Given the description of an element on the screen output the (x, y) to click on. 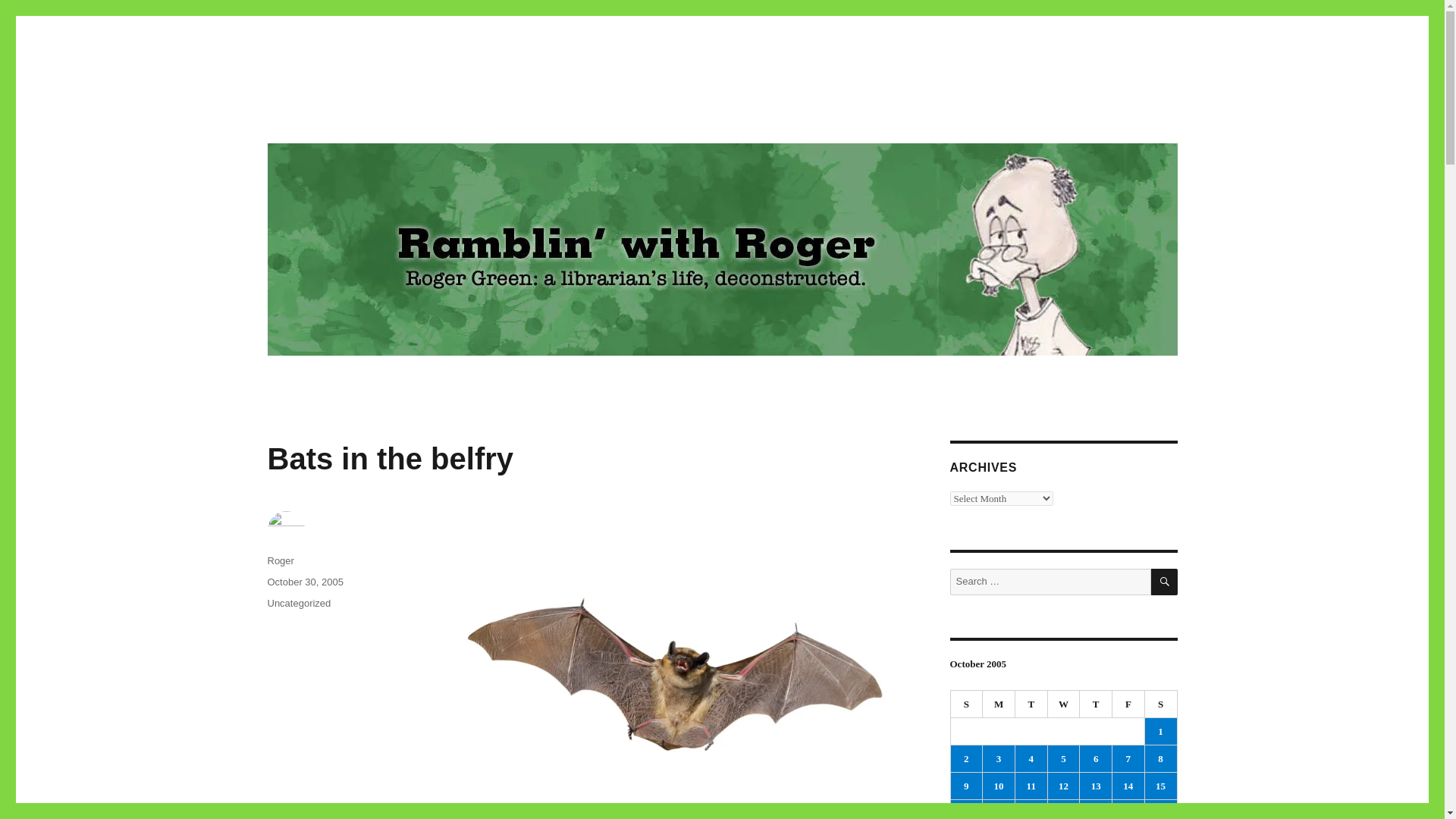
1 (1160, 731)
12 (1064, 786)
Roger (280, 560)
19 (1064, 809)
Ramblin' with Roger (368, 114)
22 (1160, 809)
October 30, 2005 (304, 582)
2 (966, 758)
14 (1128, 786)
Sunday (967, 704)
